Given the description of an element on the screen output the (x, y) to click on. 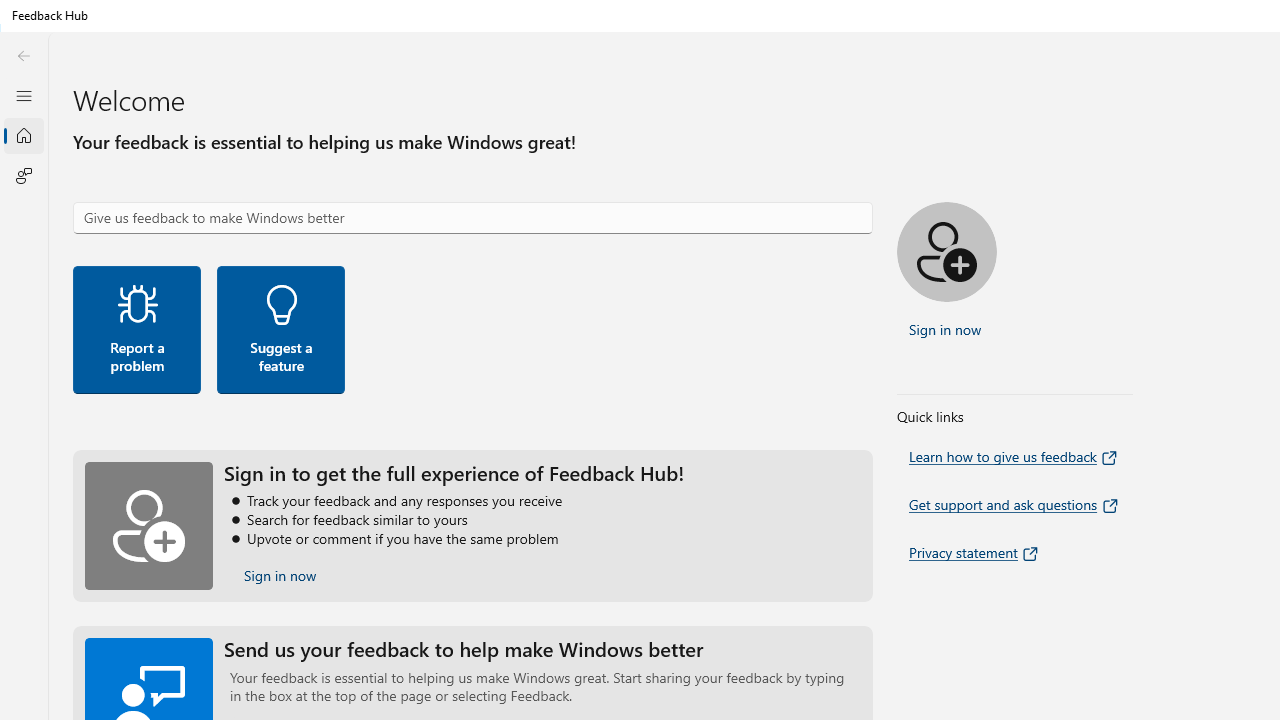
Open Navigation (23, 95)
Report a problem (136, 329)
Give us feedback to make Windows better (472, 218)
Feedback (23, 175)
Home (23, 136)
Sign in now (279, 575)
Privacy statement (975, 552)
Back (23, 56)
Learn how to give us feedback (1014, 456)
Suggest a feature (281, 329)
Get support and ask questions (1014, 504)
